Given the description of an element on the screen output the (x, y) to click on. 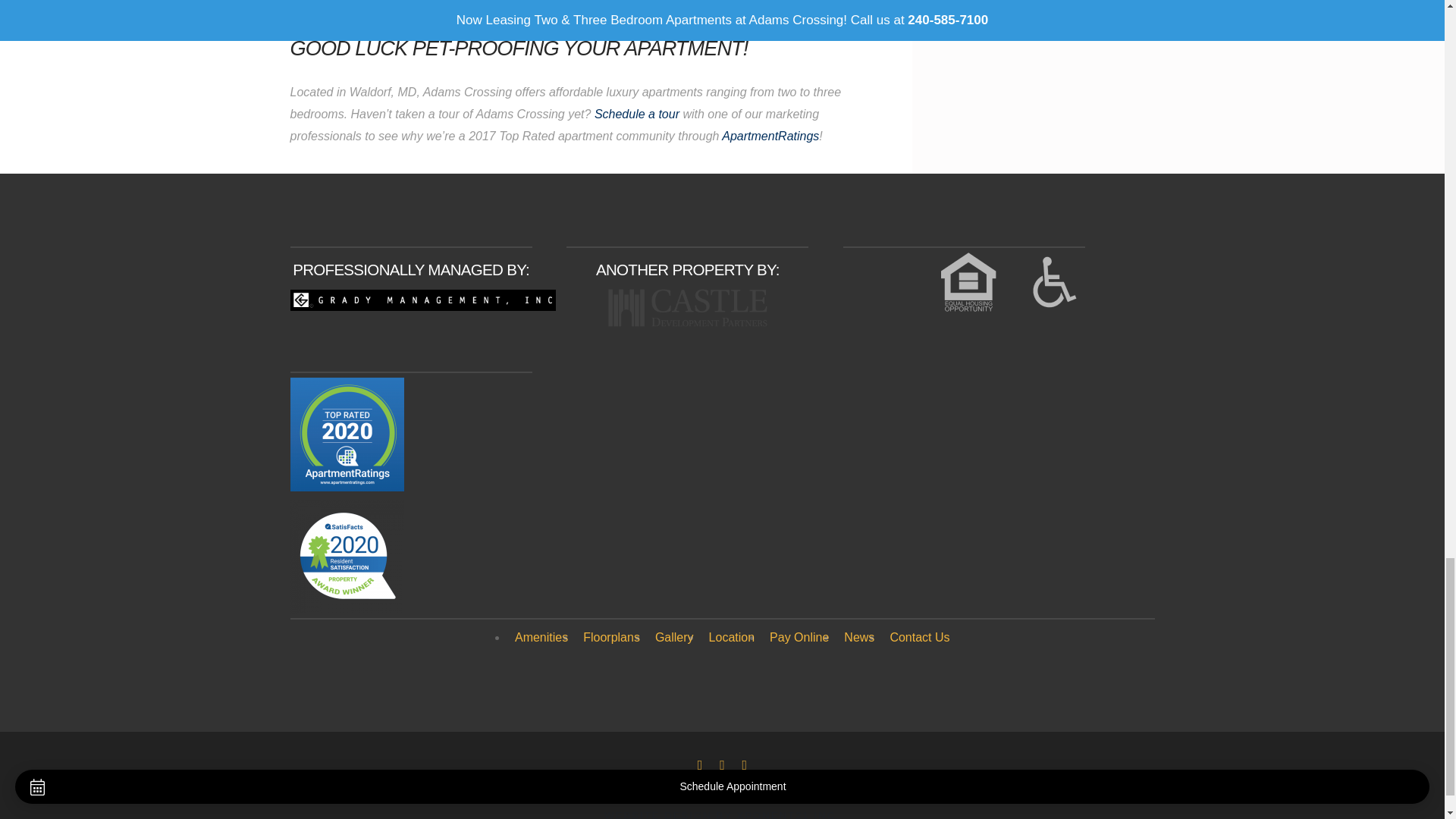
ApartmentRatings (770, 135)
Schedule a tour (636, 113)
